Given the description of an element on the screen output the (x, y) to click on. 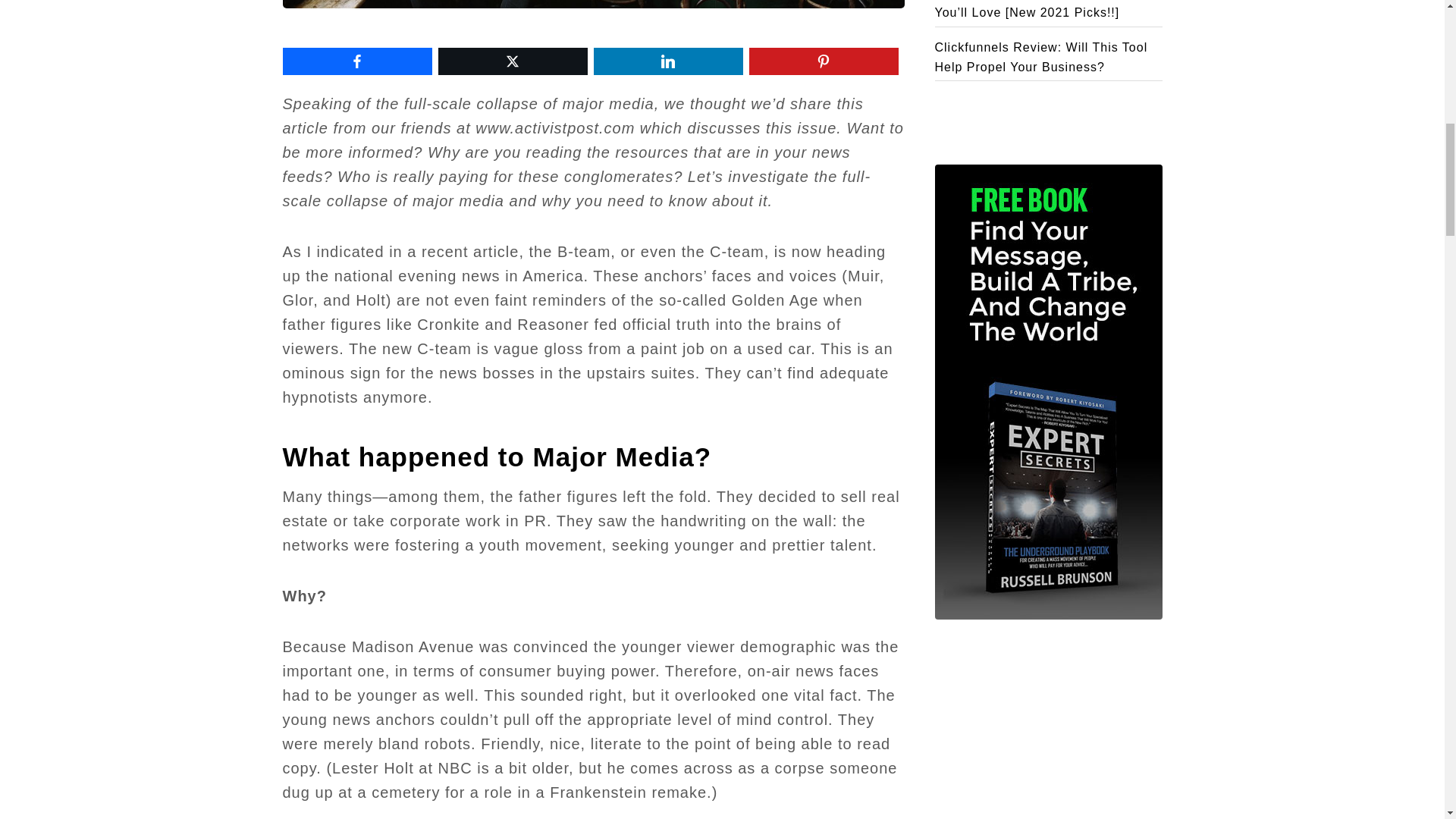
Share on Pinterest (823, 61)
Share on LinkedIn (667, 61)
Share on Facebook (356, 61)
Share on Twitter (513, 61)
